Given the description of an element on the screen output the (x, y) to click on. 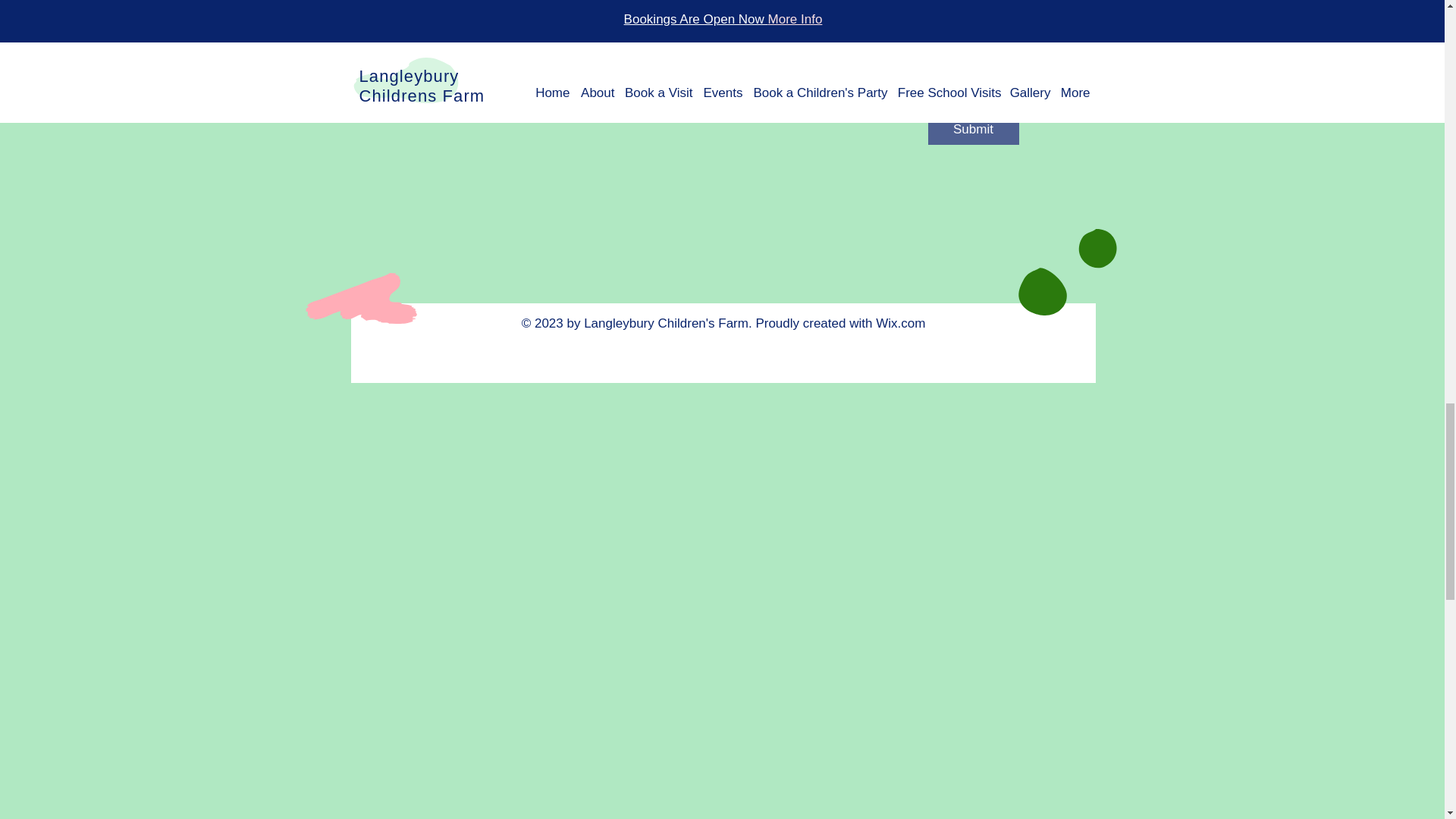
Submit (973, 129)
Wix.com (900, 323)
